Given the description of an element on the screen output the (x, y) to click on. 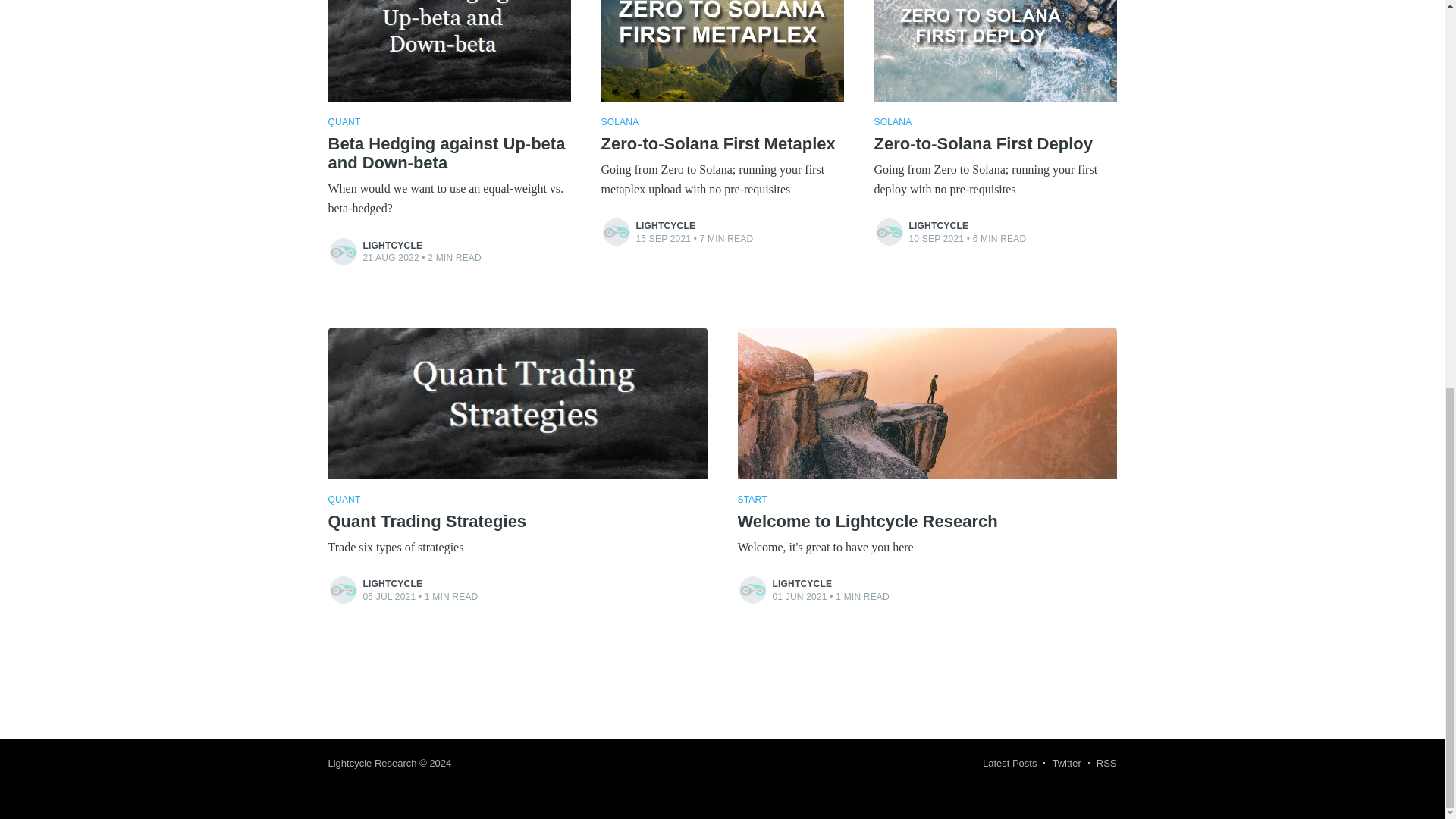
SOLANA (892, 122)
QUANT (343, 499)
LIGHTCYCLE (392, 245)
SOLANA (619, 122)
LIGHTCYCLE (938, 225)
LIGHTCYCLE (392, 583)
QUANT (343, 122)
LIGHTCYCLE (664, 225)
